Given the description of an element on the screen output the (x, y) to click on. 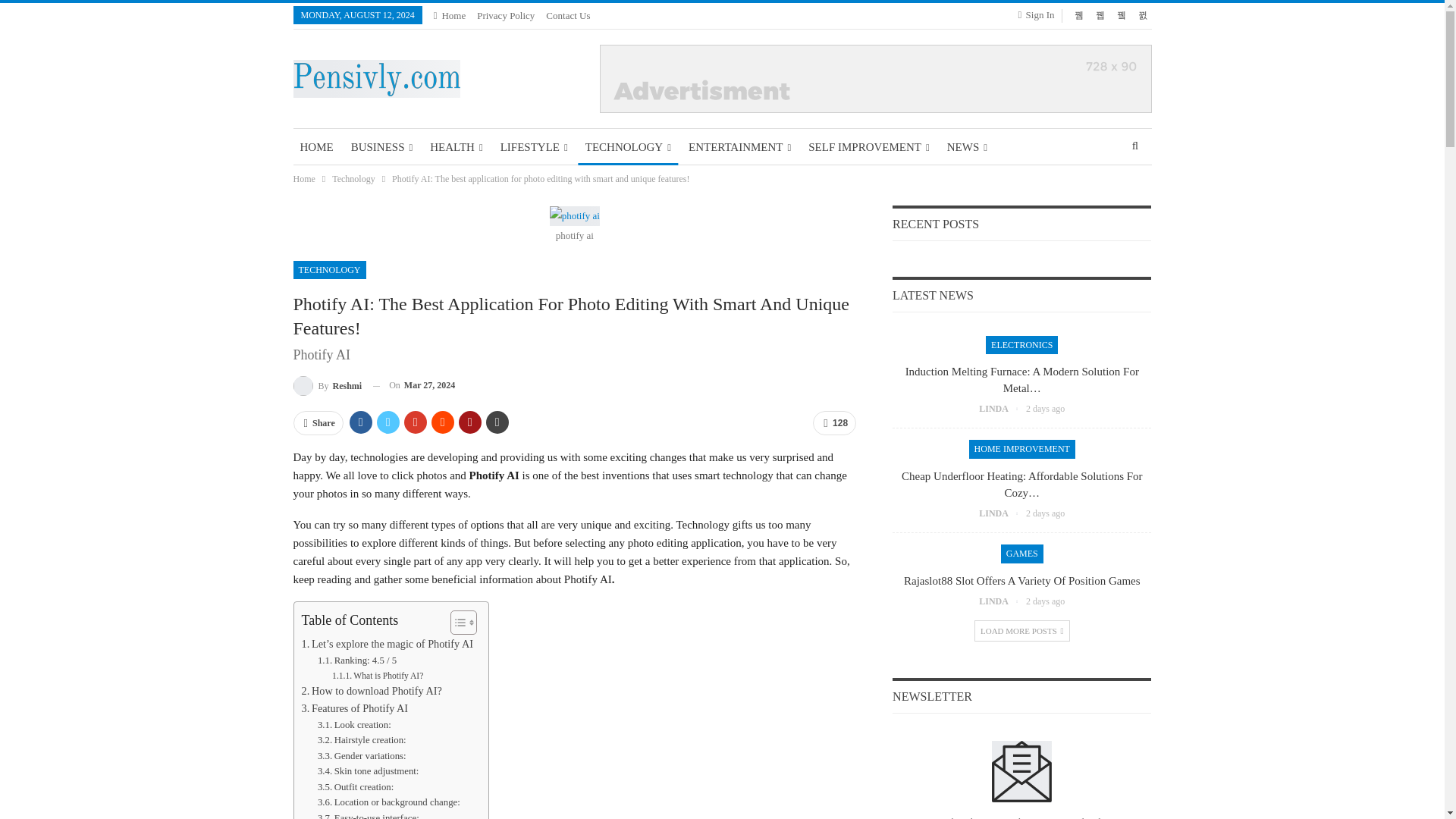
LIFESTYLE (534, 146)
Home (449, 15)
Location or background change: (388, 802)
Easy-to-use interface: (368, 814)
HOME (315, 146)
ENTERTAINMENT (739, 146)
Look creation: (354, 725)
Hairstyle creation: (361, 740)
Browse Author Articles (326, 385)
Privacy Policy (505, 15)
